Given the description of an element on the screen output the (x, y) to click on. 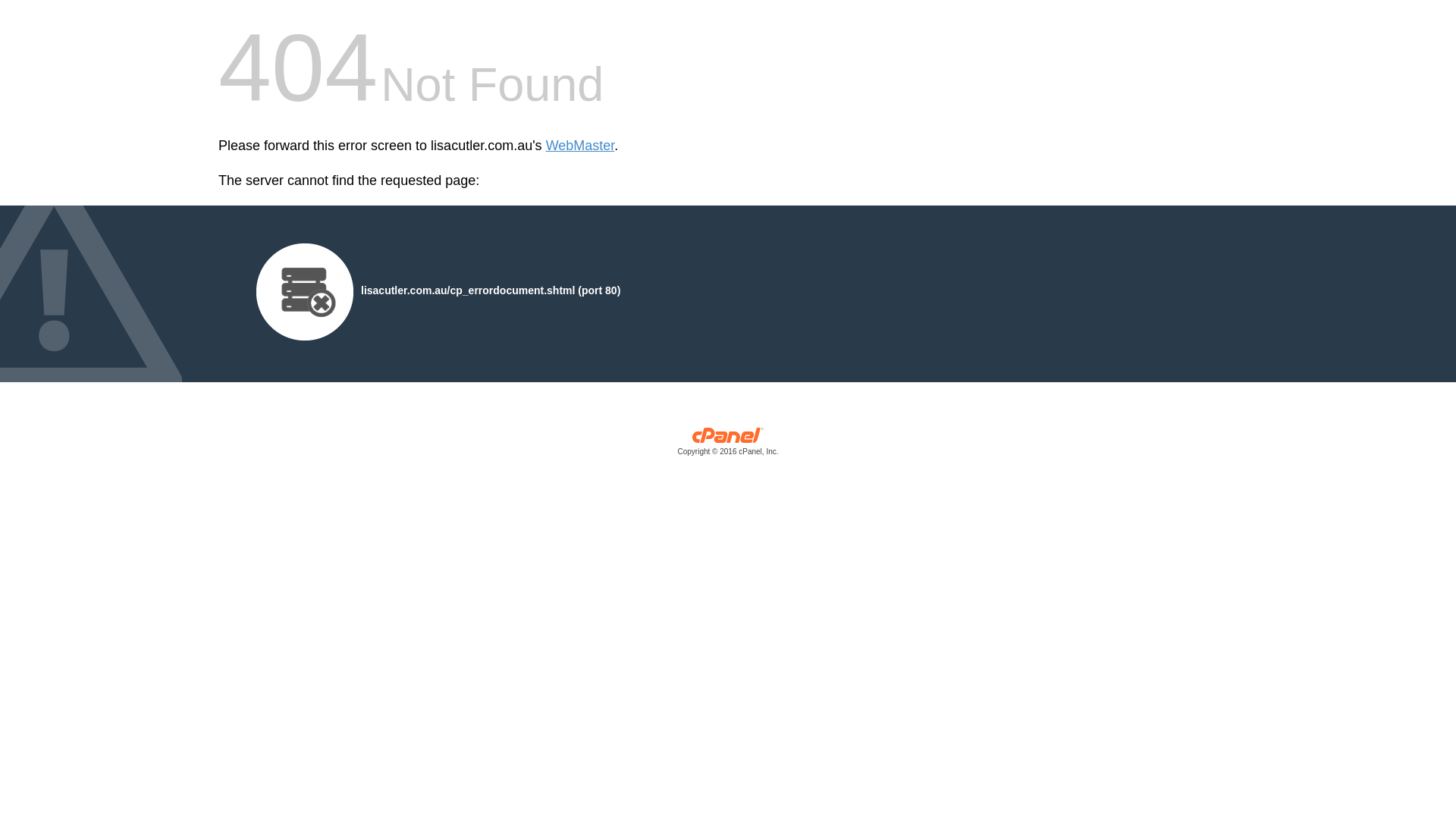
WebMaster Element type: text (580, 145)
